Given the description of an element on the screen output the (x, y) to click on. 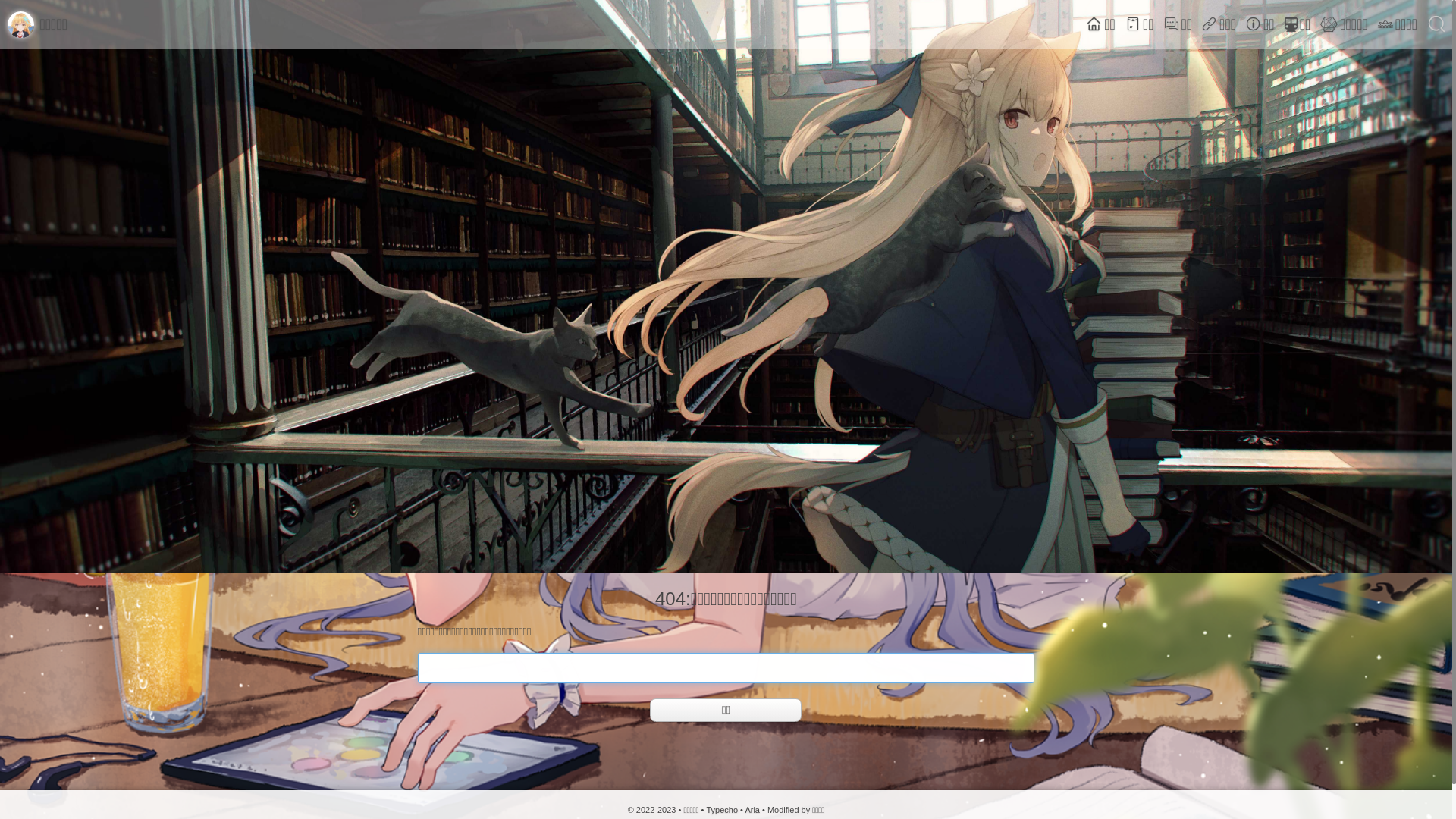
Typecho Element type: text (721, 809)
Aria Element type: text (751, 809)
